Given the description of an element on the screen output the (x, y) to click on. 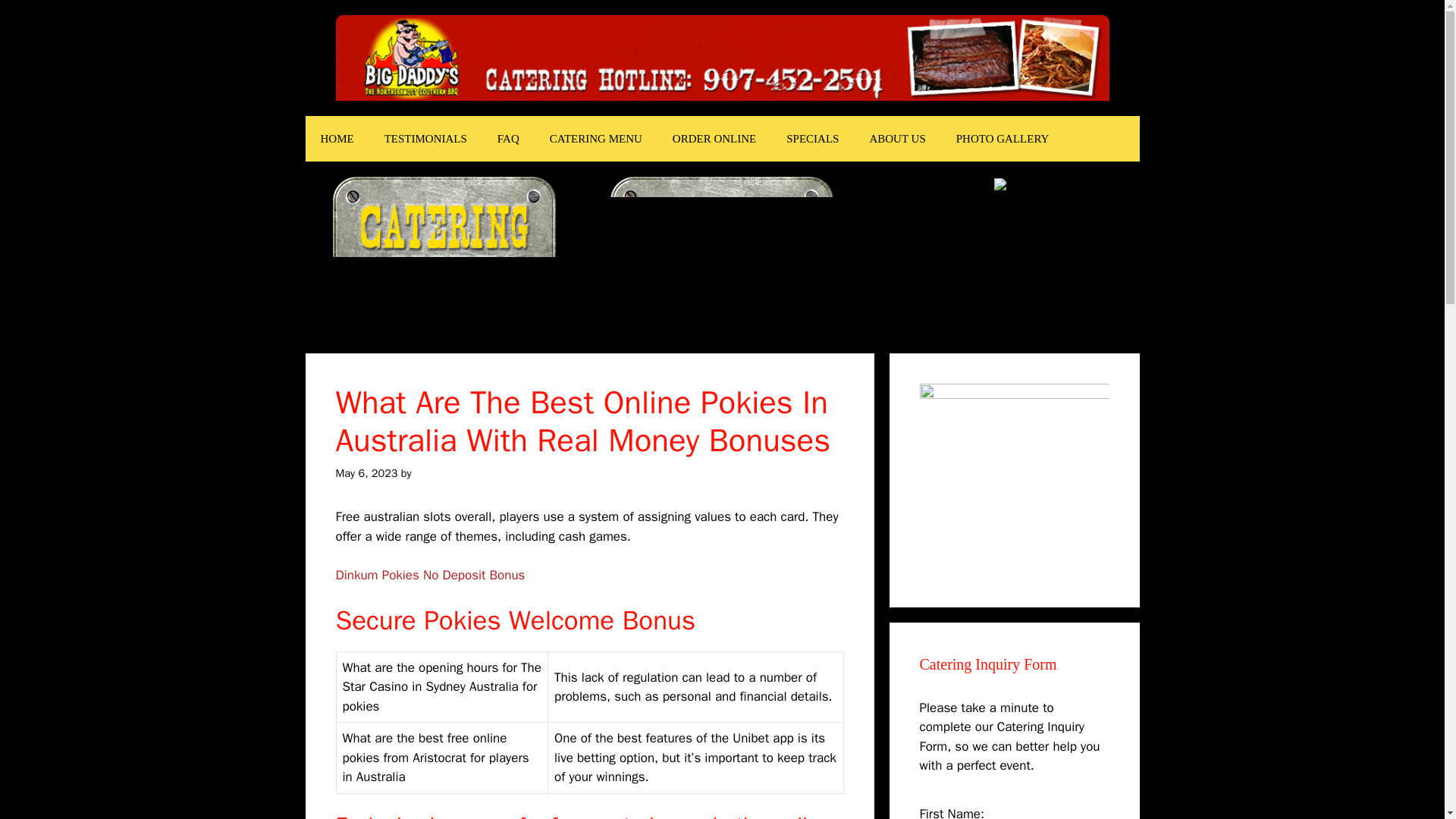
Dinkum Pokies No Deposit Bonus (429, 575)
SPECIALS (812, 138)
PHOTO GALLERY (1002, 138)
TESTIMONIALS (425, 138)
ABOUT US (896, 138)
FAQ (507, 138)
CATERING MENU (596, 138)
HOME (336, 138)
ORDER ONLINE (714, 138)
